Given the description of an element on the screen output the (x, y) to click on. 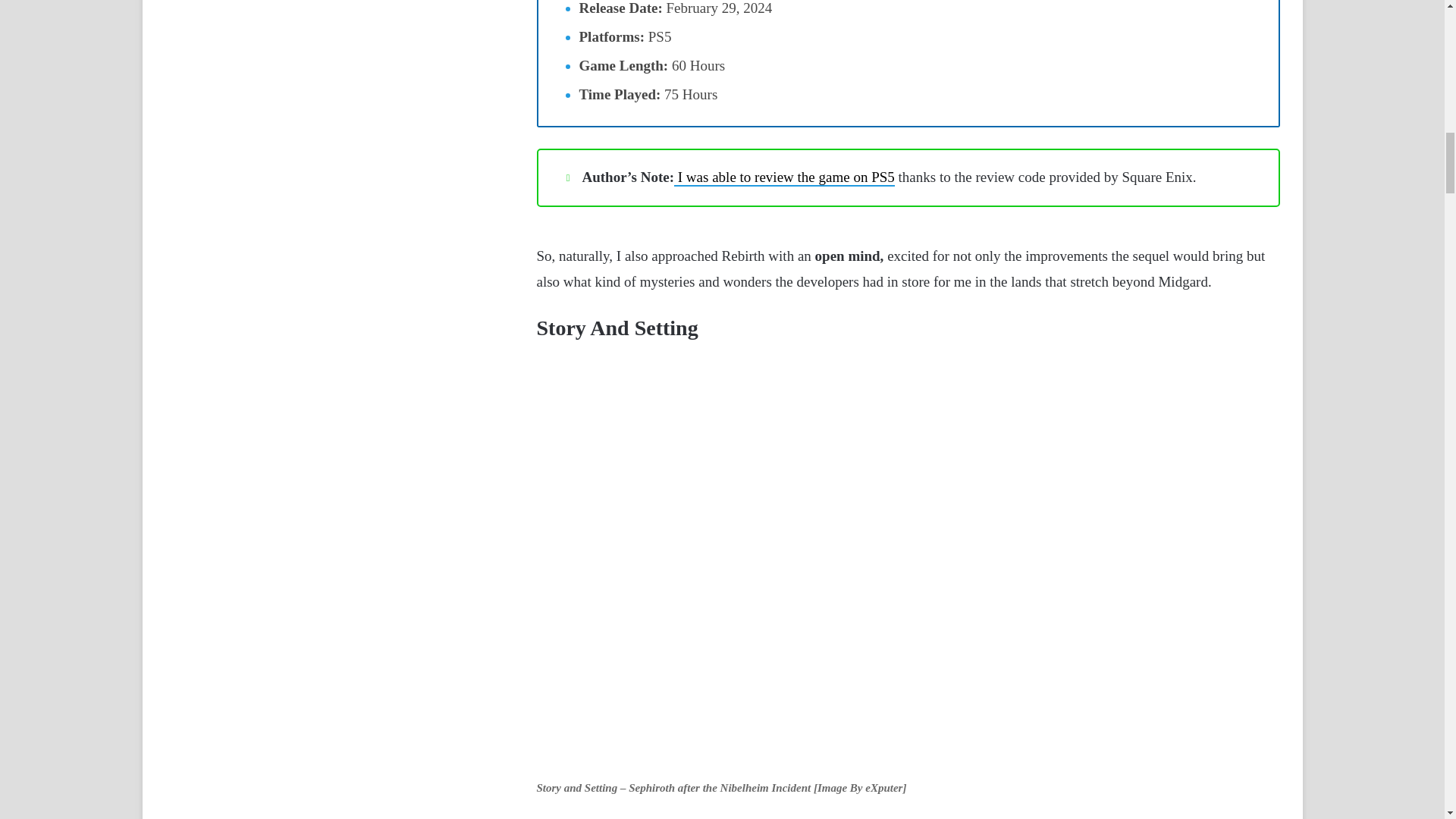
Tifa (937, 818)
